Given the description of an element on the screen output the (x, y) to click on. 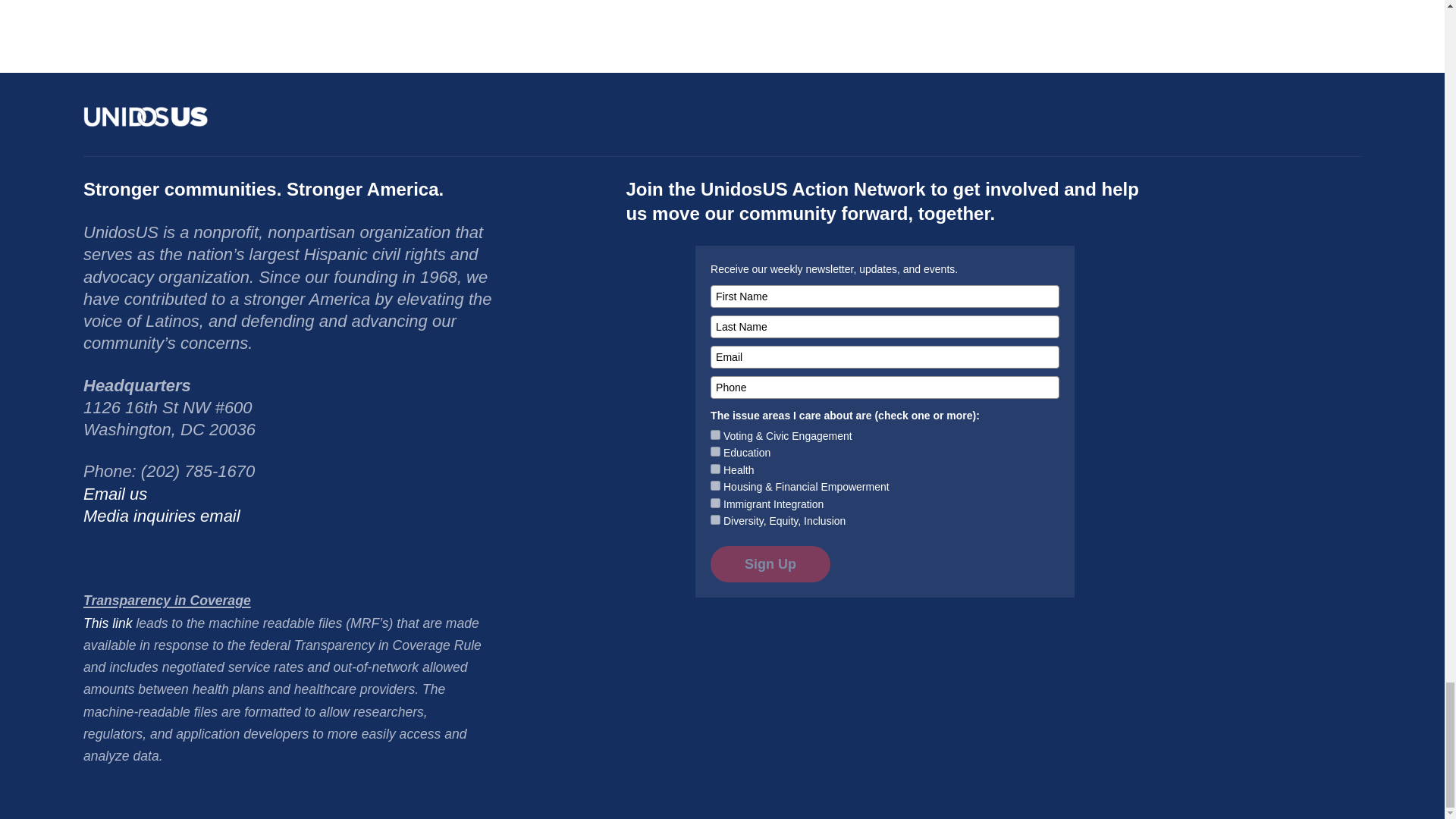
Immigrant Integration (715, 502)
Media inquiries email (161, 515)
Email us (114, 493)
This link (107, 622)
Diversity, Equity, Inclusion (715, 519)
Sign Up (769, 564)
Health (715, 469)
Education (715, 451)
